Given the description of an element on the screen output the (x, y) to click on. 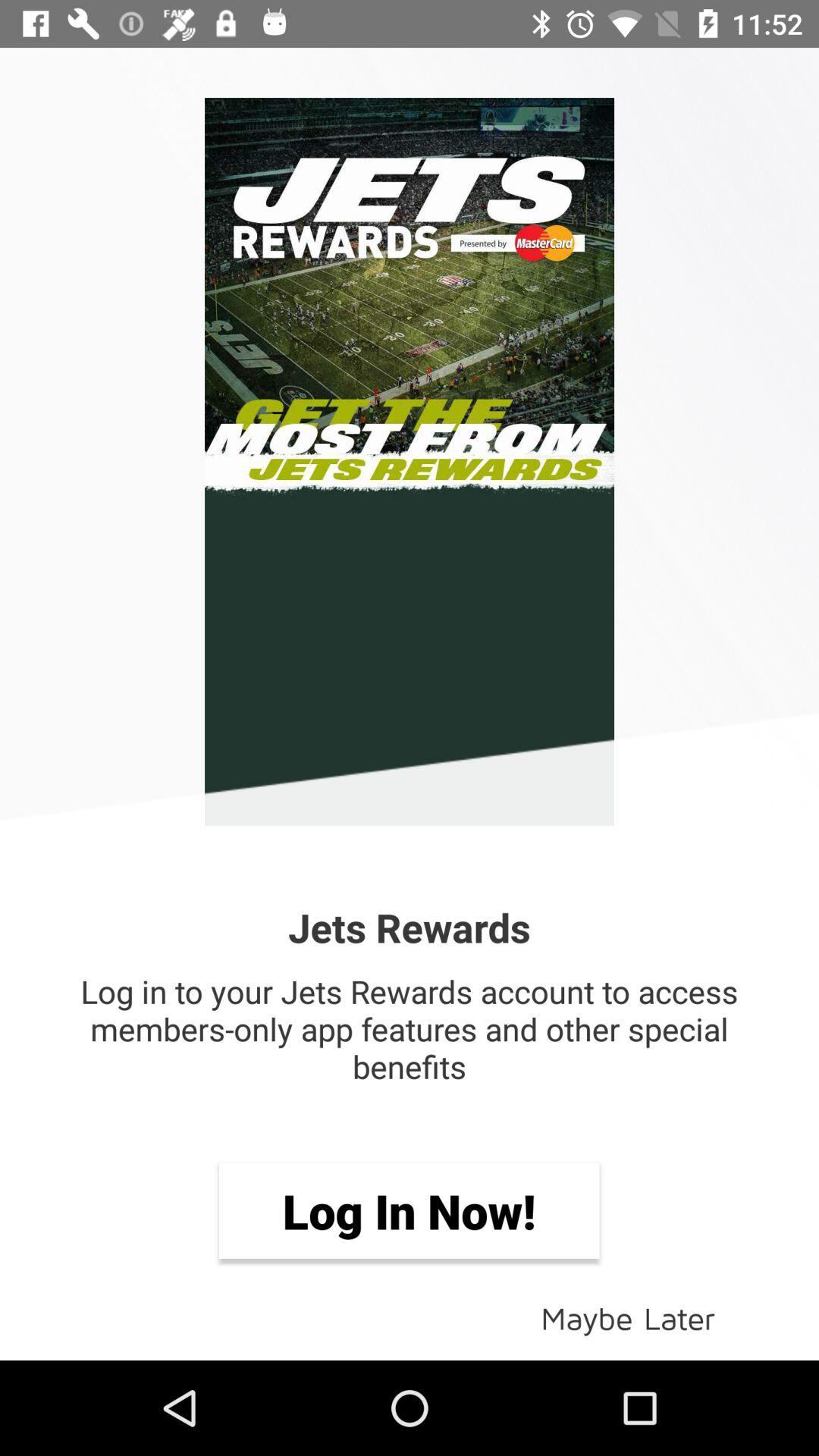
flip until maybe later item (627, 1317)
